Given the description of an element on the screen output the (x, y) to click on. 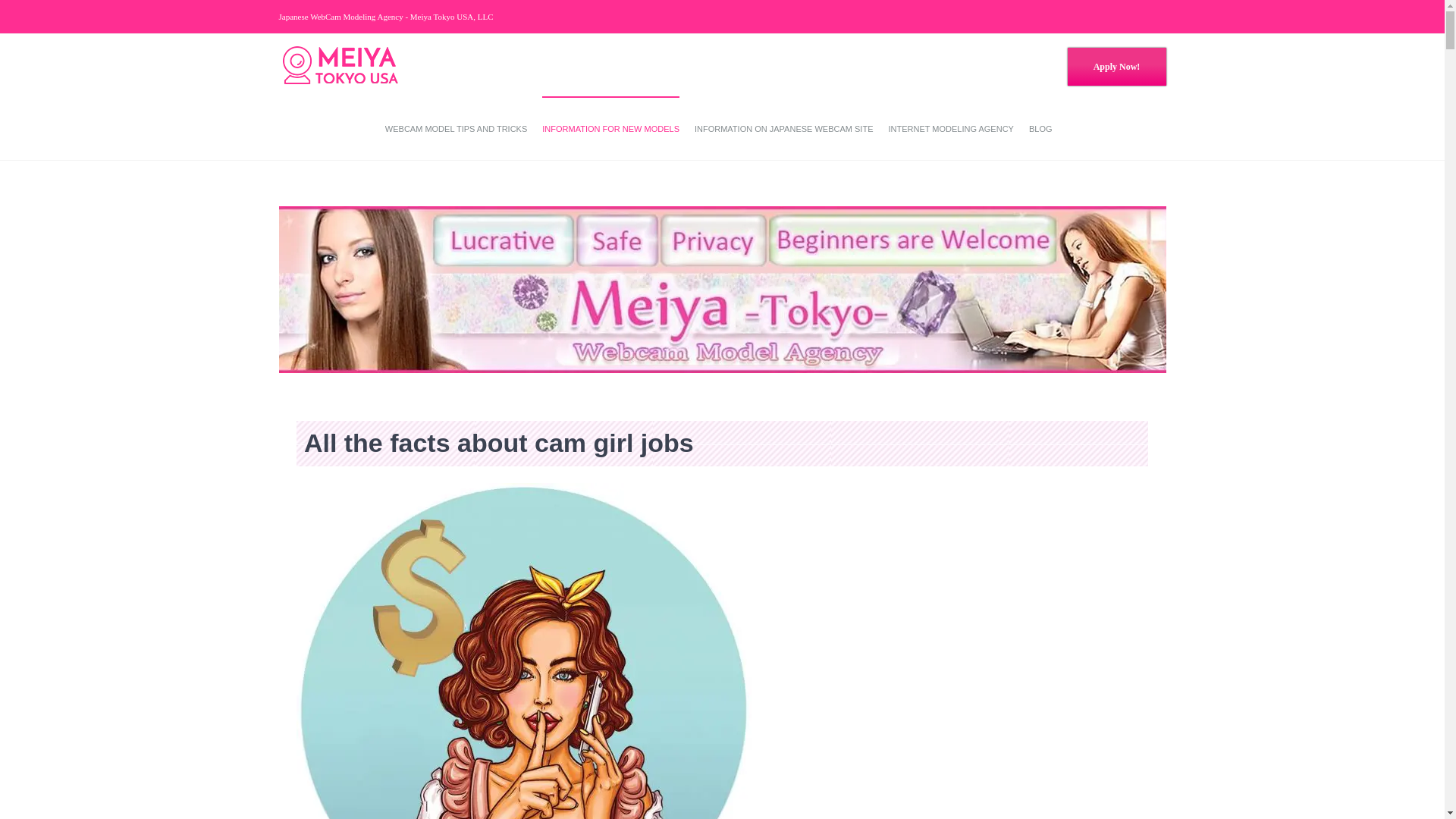
Apply Now! (1116, 65)
WEBCAM MODEL TIPS AND TRICKS (456, 127)
INFORMATION FOR NEW MODELS (610, 127)
